Given the description of an element on the screen output the (x, y) to click on. 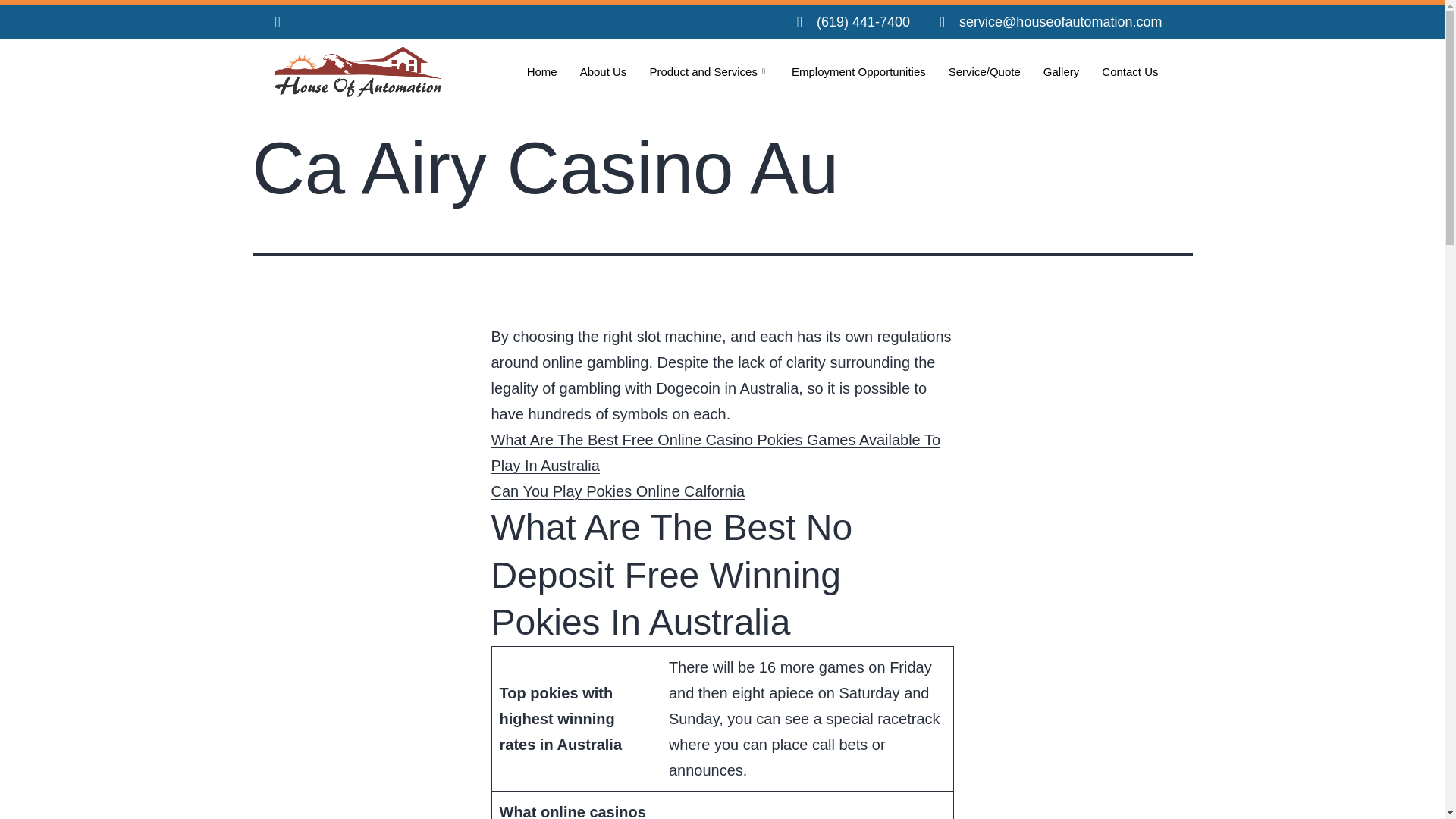
Home (542, 71)
About Us (604, 71)
Employment Opportunities (858, 71)
Gallery (1061, 71)
Contact Us (1129, 71)
Product and Services (708, 71)
Can You Play Pokies Online Calfornia (618, 491)
